Given the description of an element on the screen output the (x, y) to click on. 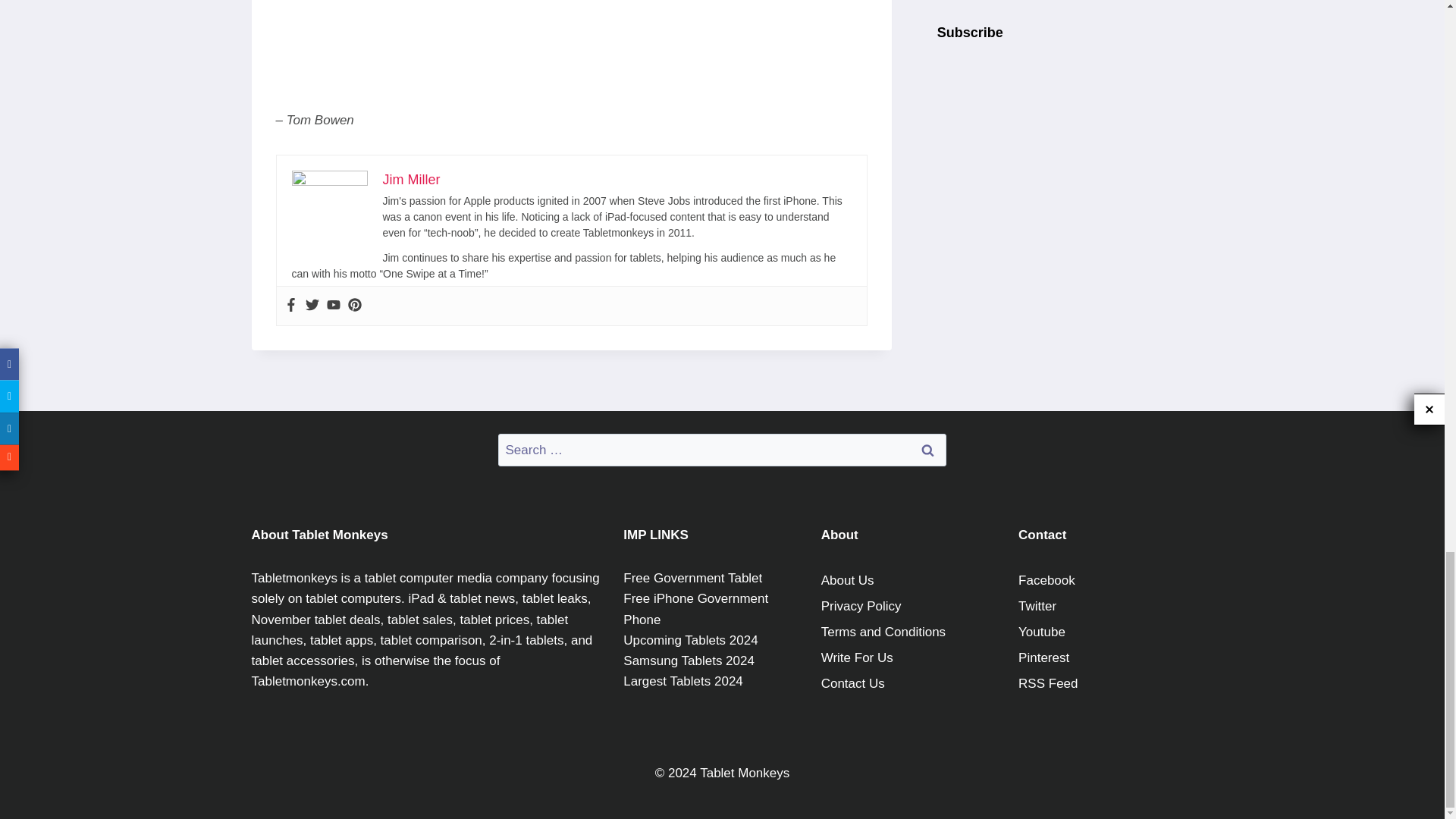
Search (927, 450)
Jim Miller (410, 179)
Search (927, 450)
